Given the description of an element on the screen output the (x, y) to click on. 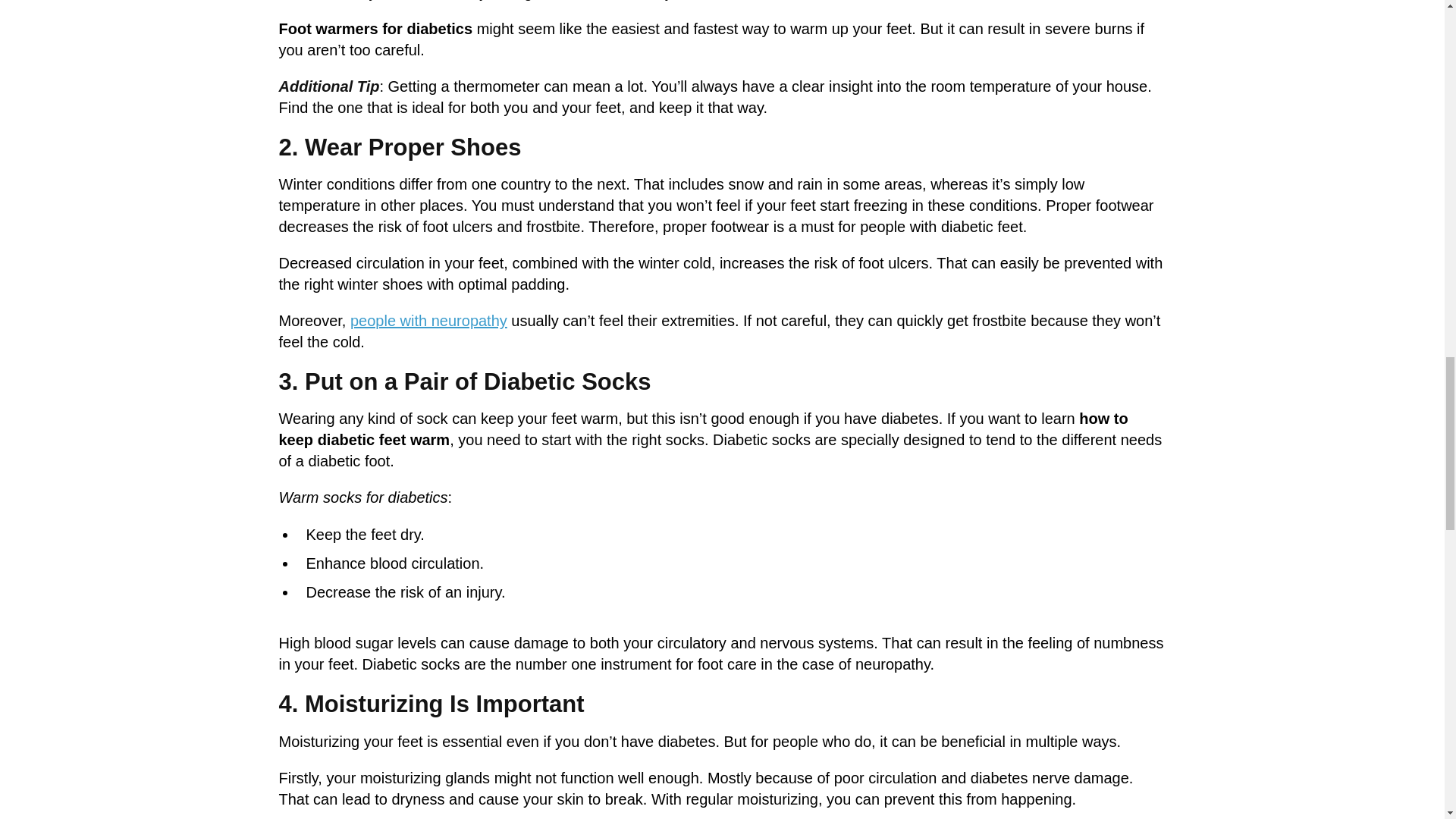
Diabetic neuropathy (428, 320)
people with neuropathy (428, 320)
